Given the description of an element on the screen output the (x, y) to click on. 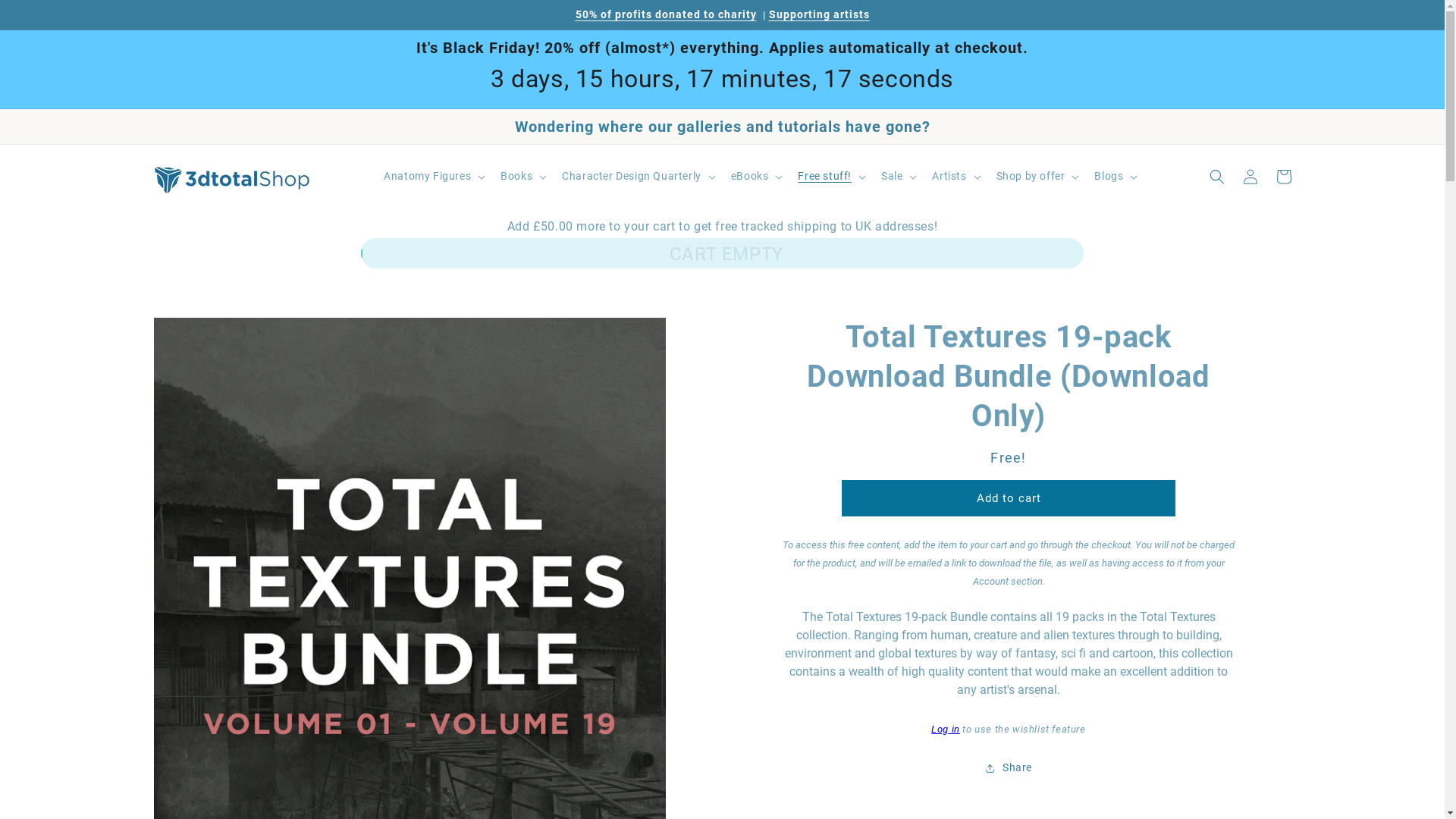
Add to cart Element type: text (1008, 498)
Wondering where our galleries and tutorials have gone? Element type: text (722, 126)
Log in Element type: text (1249, 176)
Cart Element type: text (1282, 176)
Skip to product information Element type: text (175, 316)
Supporting artists Element type: text (818, 14)
50% of profits donated to charity Element type: text (665, 14)
Log in Element type: text (945, 728)
